Given the description of an element on the screen output the (x, y) to click on. 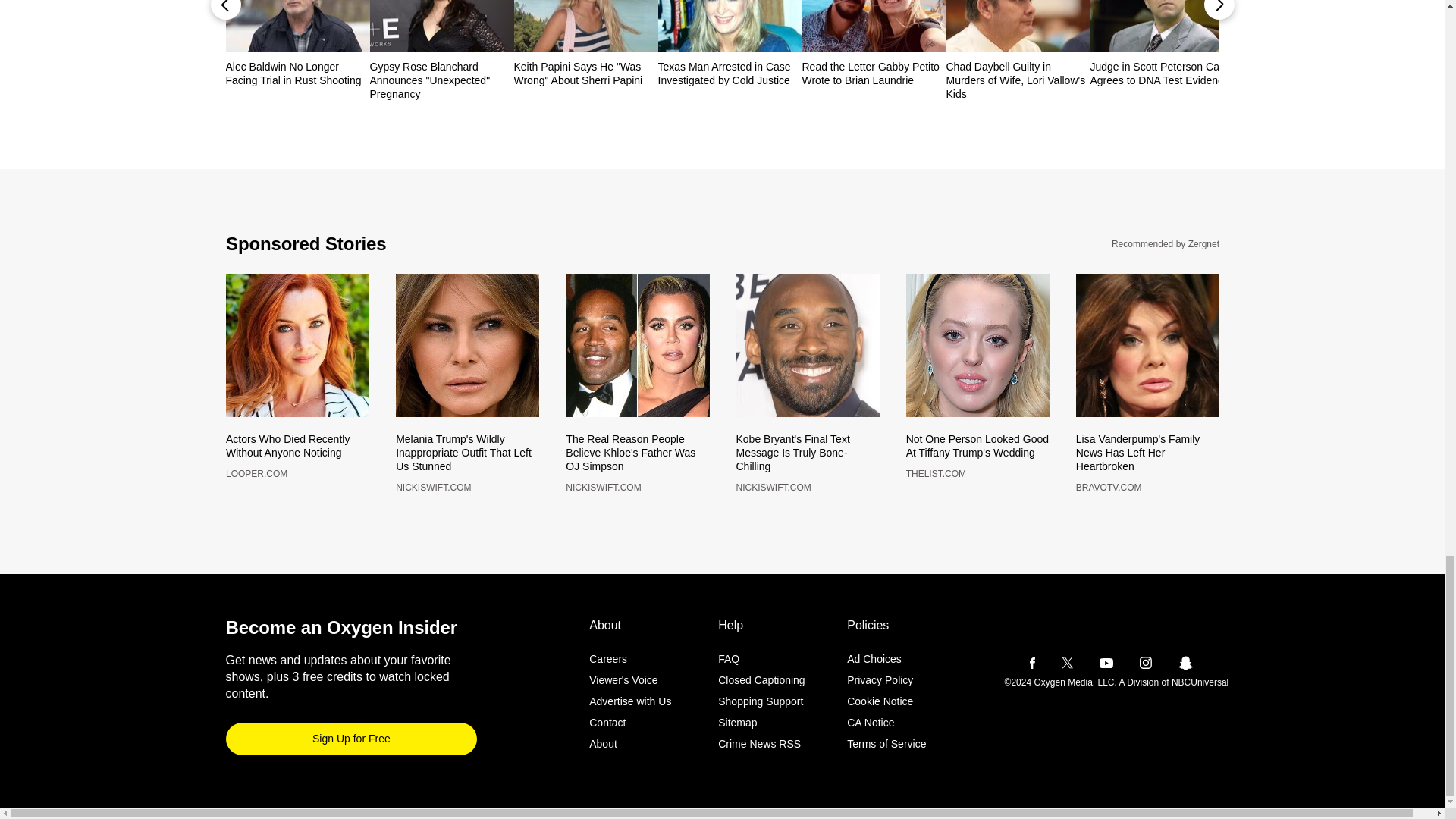
Chad Daybell Guilty in Murders of Wife, Lori Vallow's Kids (1018, 79)
Read the Letter Gabby Petito Wrote to Brian Laundrie (874, 72)
Gypsy Rose Blanchard Announces "Unexpected" Pregnancy (441, 79)
Alec Baldwin No Longer Facing Trial in Rust Shooting (297, 72)
Texas Man Arrested in Case Investigated by Cold Justice (730, 72)
Advertise with Us (630, 702)
Keith Papini Says He "Was Wrong" About Sherri Papini (585, 72)
